Given the description of an element on the screen output the (x, y) to click on. 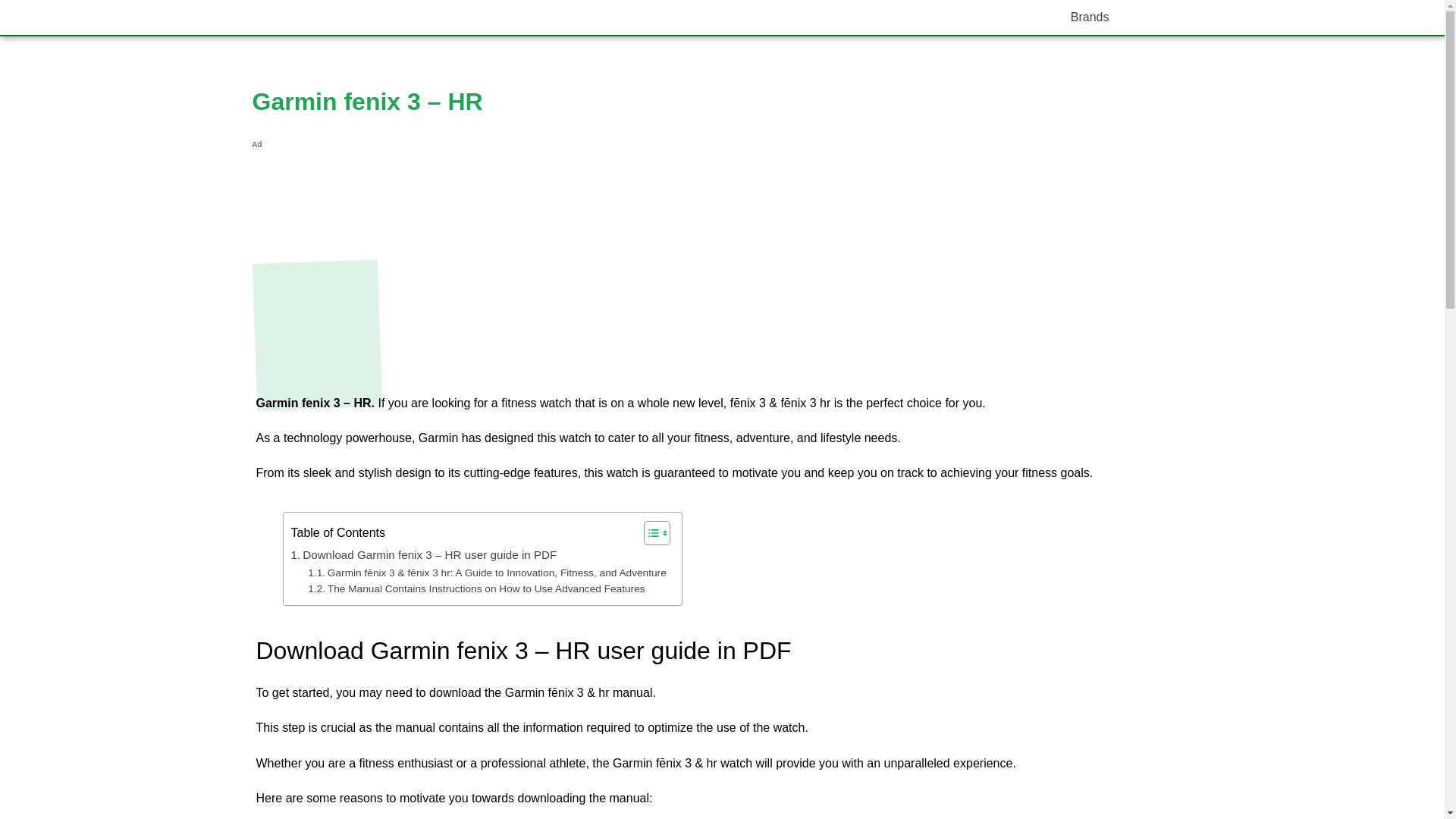
Brands (1089, 17)
